Given the description of an element on the screen output the (x, y) to click on. 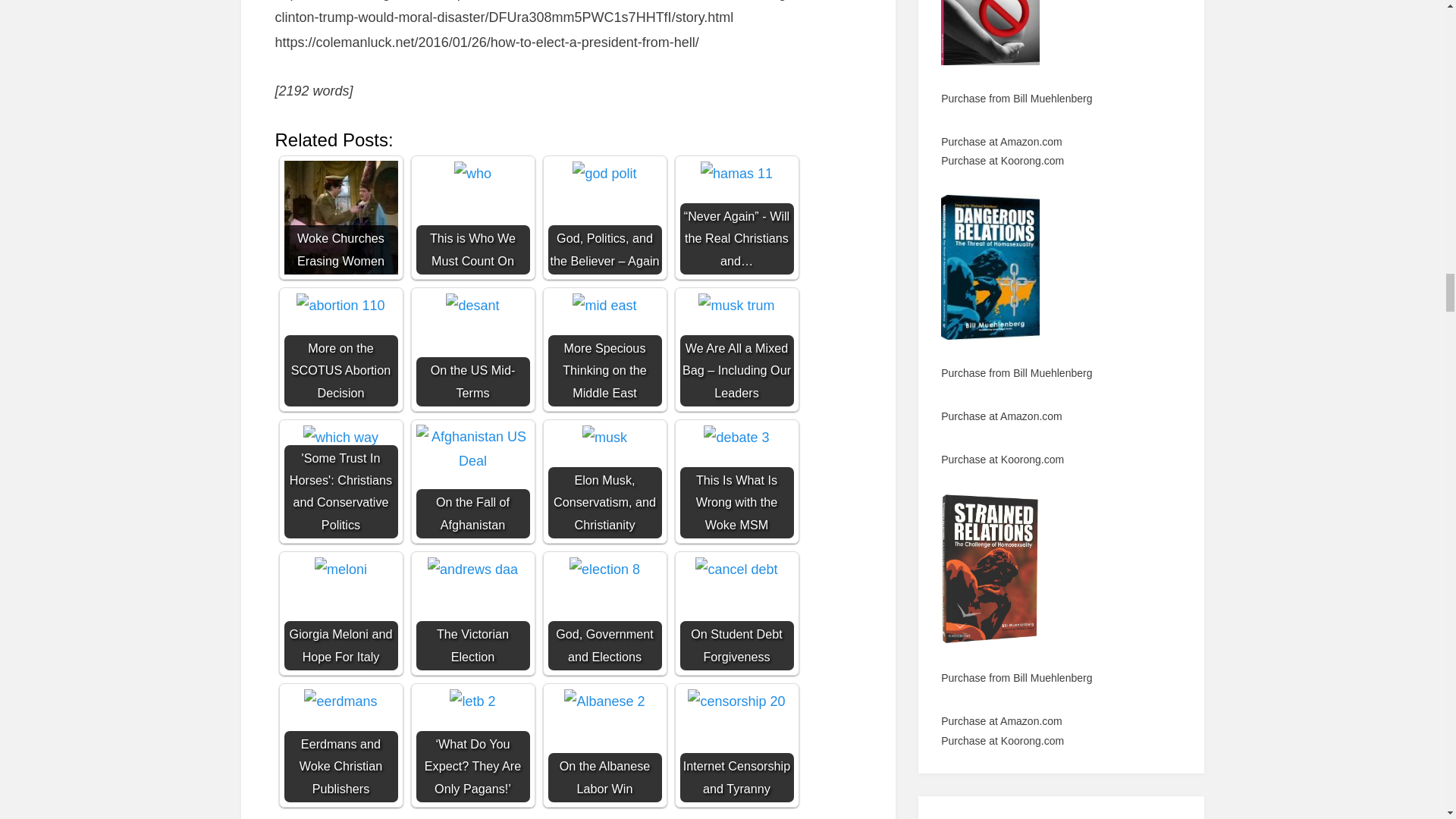
More Specious Thinking on the Middle East (604, 305)
Giorgia Meloni and Hope For Italy (340, 613)
This Is What Is Wrong with the Woke MSM (735, 437)
On the US Mid-Terms (472, 305)
The Victorian Election (473, 569)
'Some Trust In Horses': Christians and Conservative Politics (340, 437)
More Specious Thinking on the Middle East (604, 349)
Woke Churches Erasing Women (340, 217)
This is Who We Must Count On (473, 173)
More on the SCOTUS Abortion Decision (340, 305)
God, Government and Elections (604, 613)
The Victorian Election (471, 613)
This Is What Is Wrong with the Woke MSM (736, 481)
Elon Musk, Conservatism, and Christianity (604, 481)
Eerdmans and Woke Christian Publishers (340, 745)
